Given the description of an element on the screen output the (x, y) to click on. 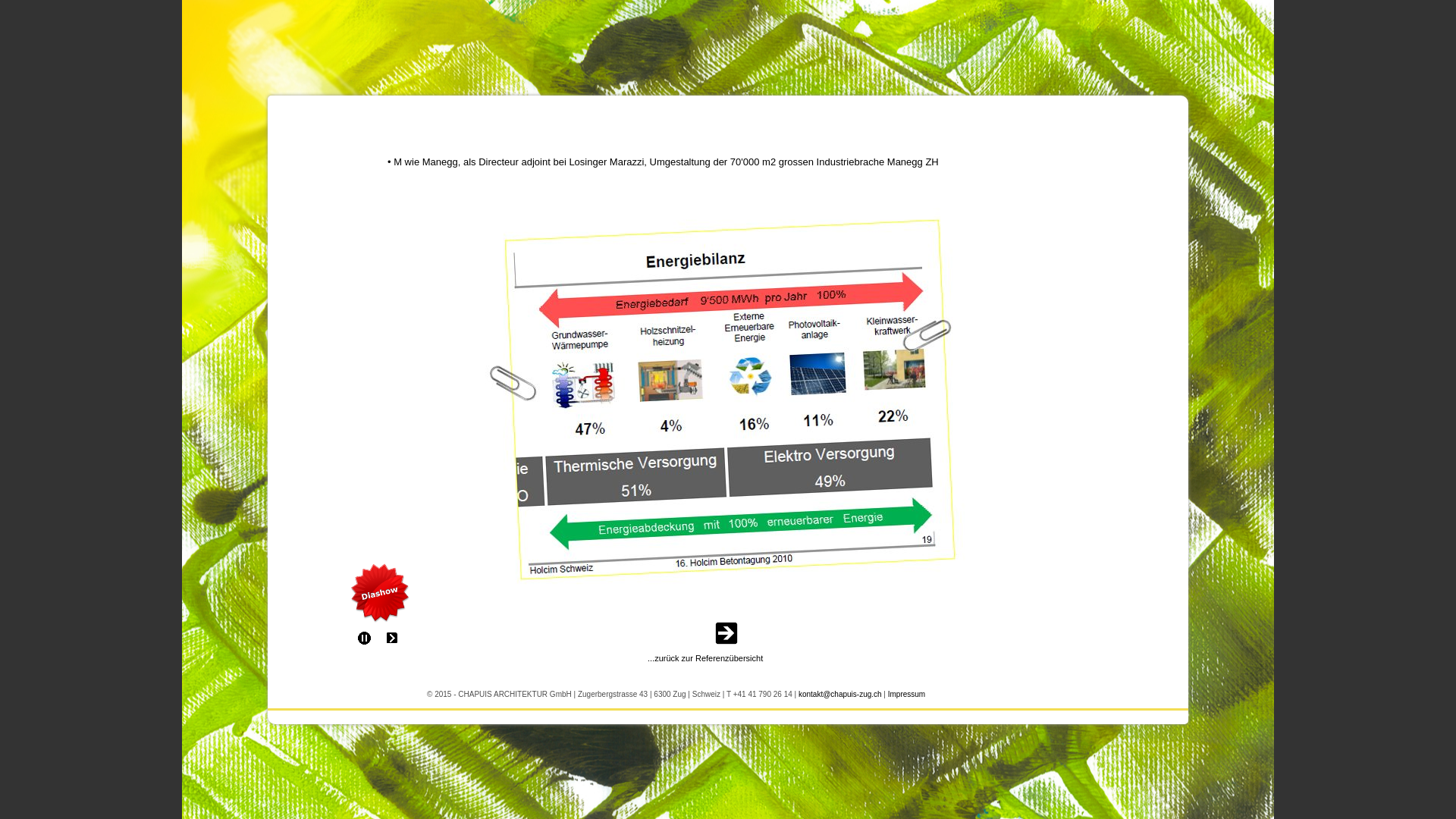
Impressum Element type: text (906, 692)
kontakt@chapuis-zug.ch Element type: text (839, 692)
